Given the description of an element on the screen output the (x, y) to click on. 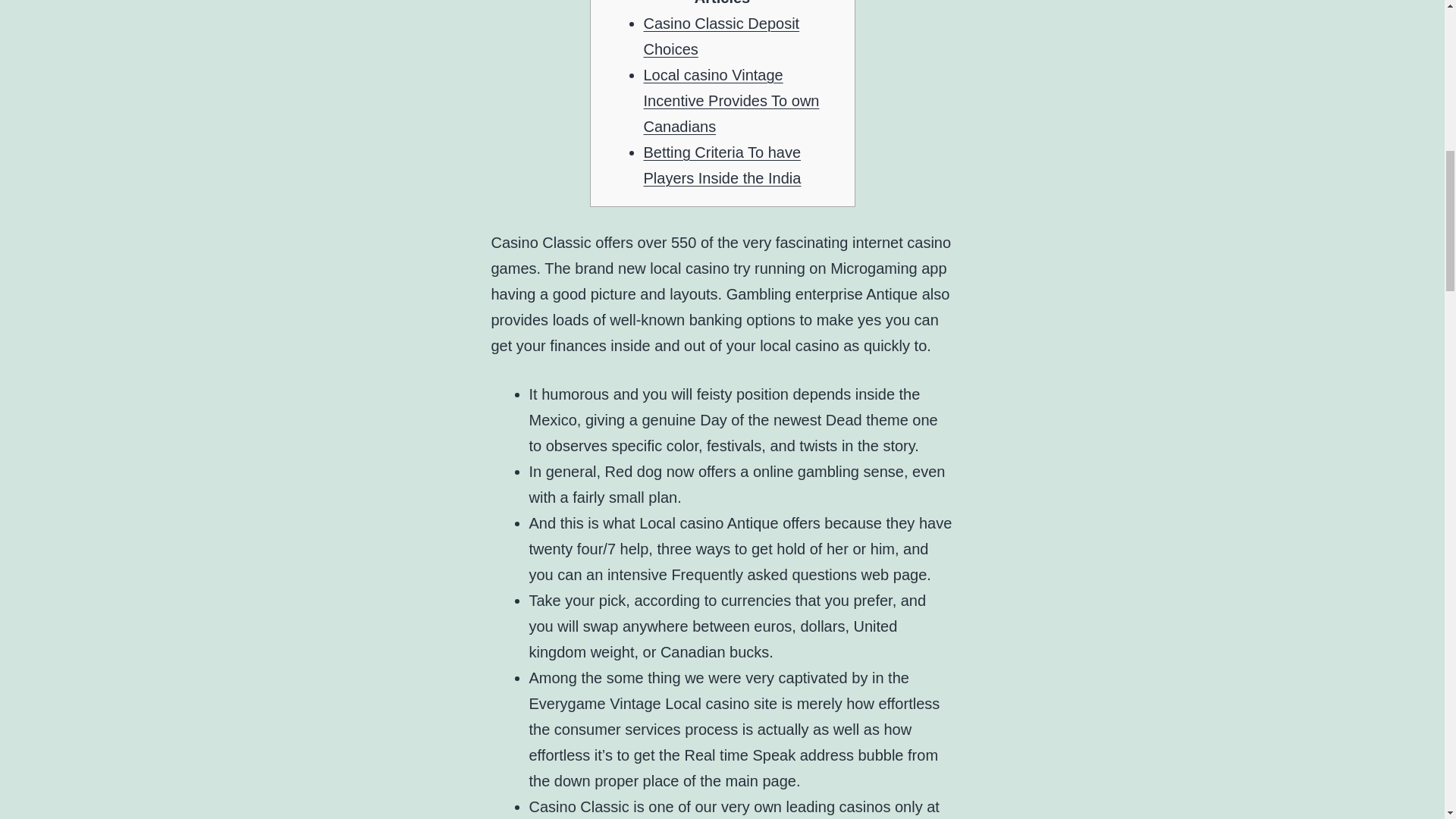
Betting Criteria To have Players Inside the India (721, 165)
Casino Classic Deposit Choices (721, 36)
Local casino Vintage Incentive Provides To own Canadians (730, 100)
